Given the description of an element on the screen output the (x, y) to click on. 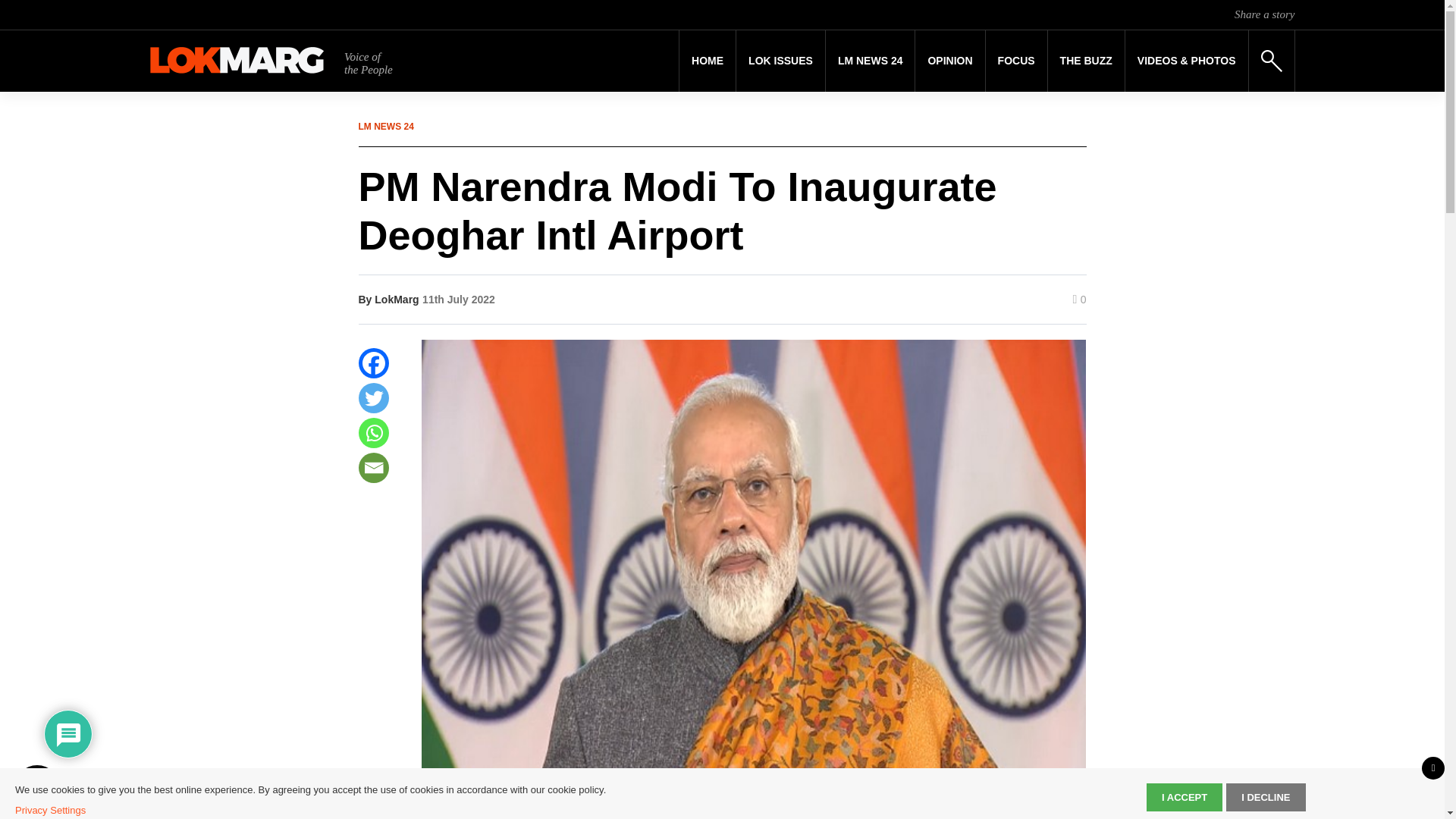
LokMarg (396, 299)
Facebook (373, 363)
THE BUZZ (1086, 60)
Share a story (1264, 14)
LM NEWS 24 (870, 60)
LM News 24 (870, 60)
Opinion (949, 60)
Lok Issues (780, 60)
FOCUS (1015, 60)
Home (707, 60)
THE BUZZ (1086, 60)
Twitter (373, 398)
HOME (707, 60)
LOK ISSUES (780, 60)
OPINION (949, 60)
